Given the description of an element on the screen output the (x, y) to click on. 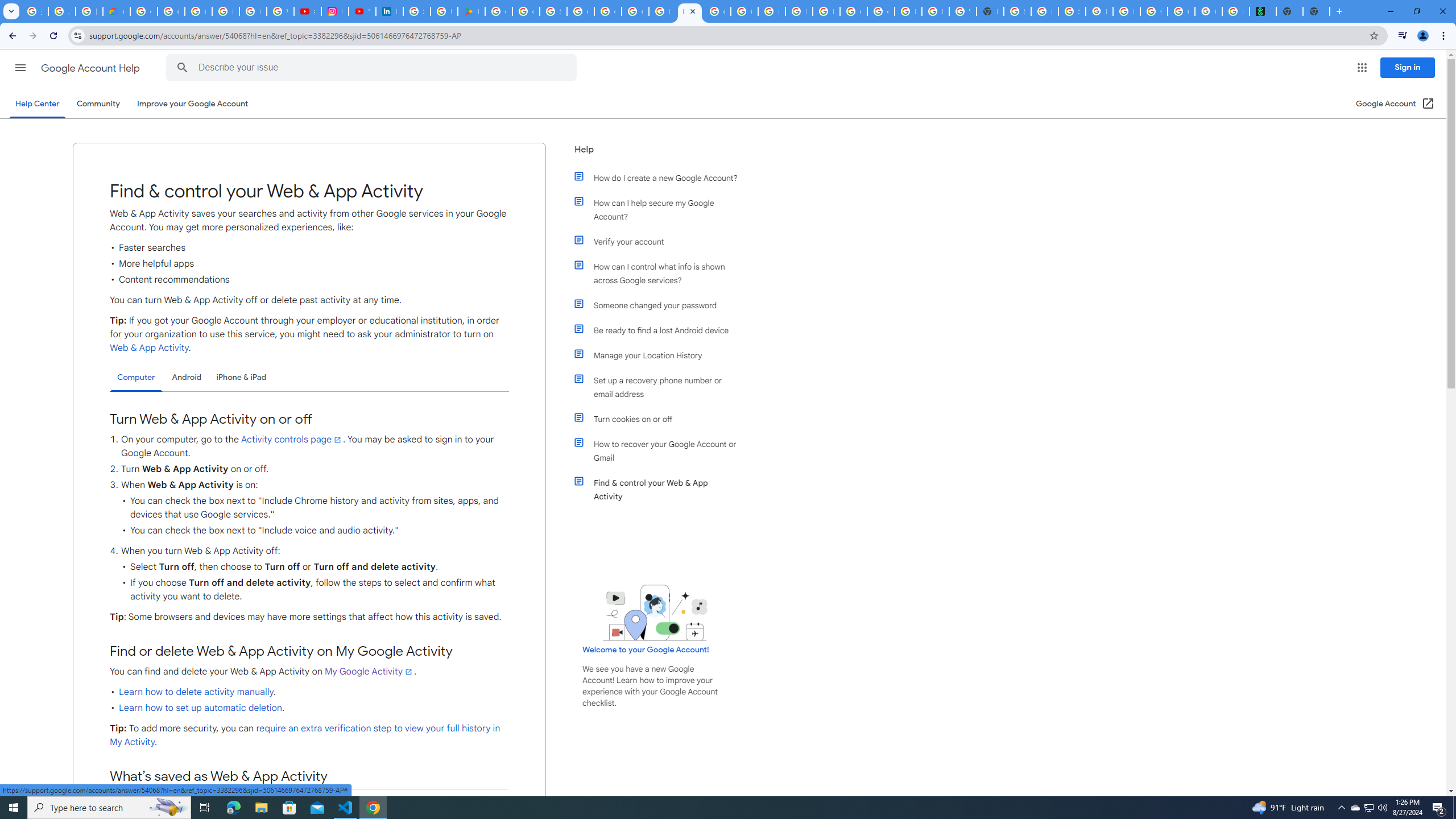
How do I create a new Google Account? - Google Account Help (662, 11)
New Tab (1316, 11)
New Tab (990, 11)
Sign in - Google Accounts (416, 11)
